Given the description of an element on the screen output the (x, y) to click on. 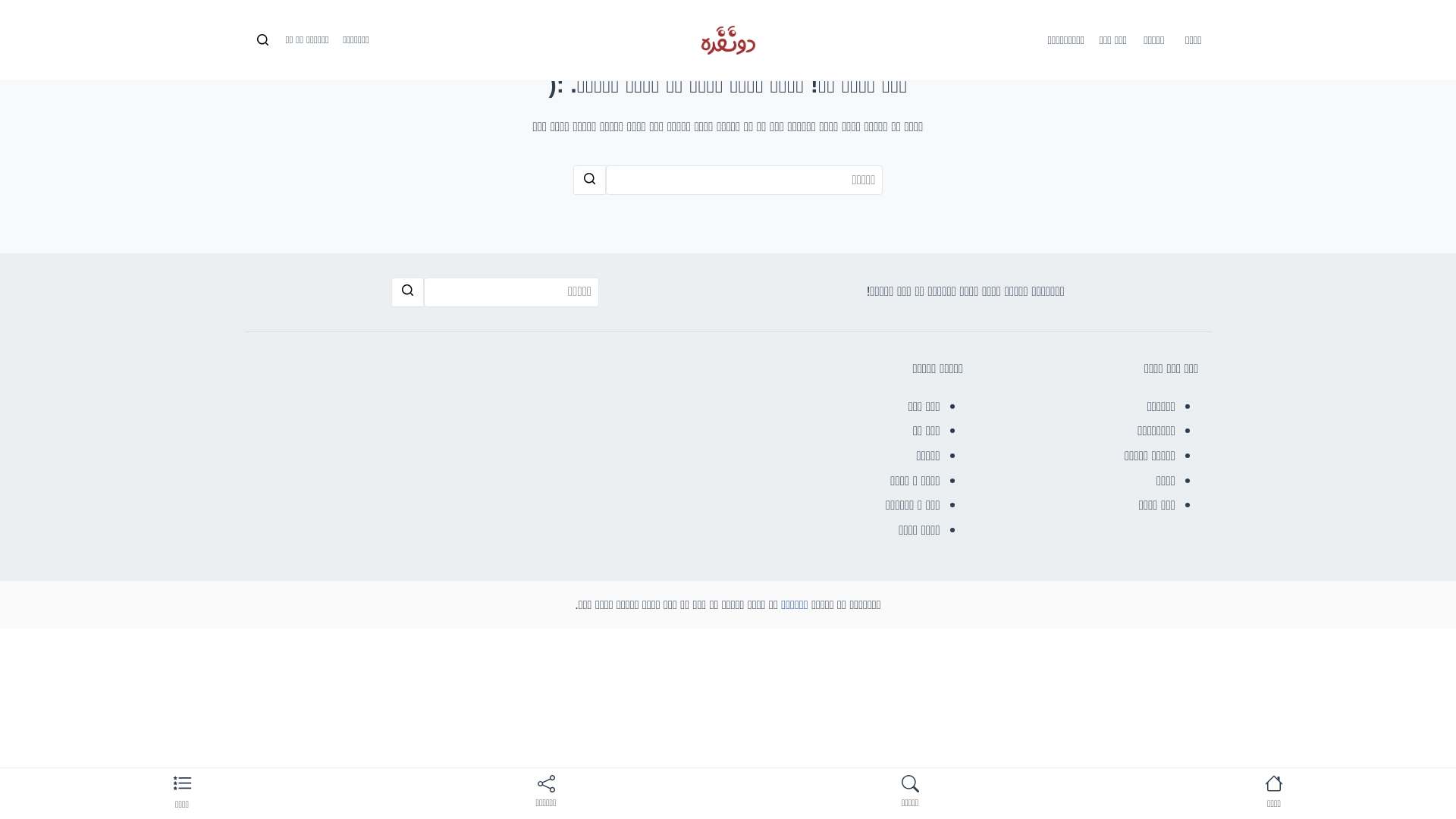
Search Input Element type: hover (511, 292)
Search Input Element type: hover (744, 179)
